Given the description of an element on the screen output the (x, y) to click on. 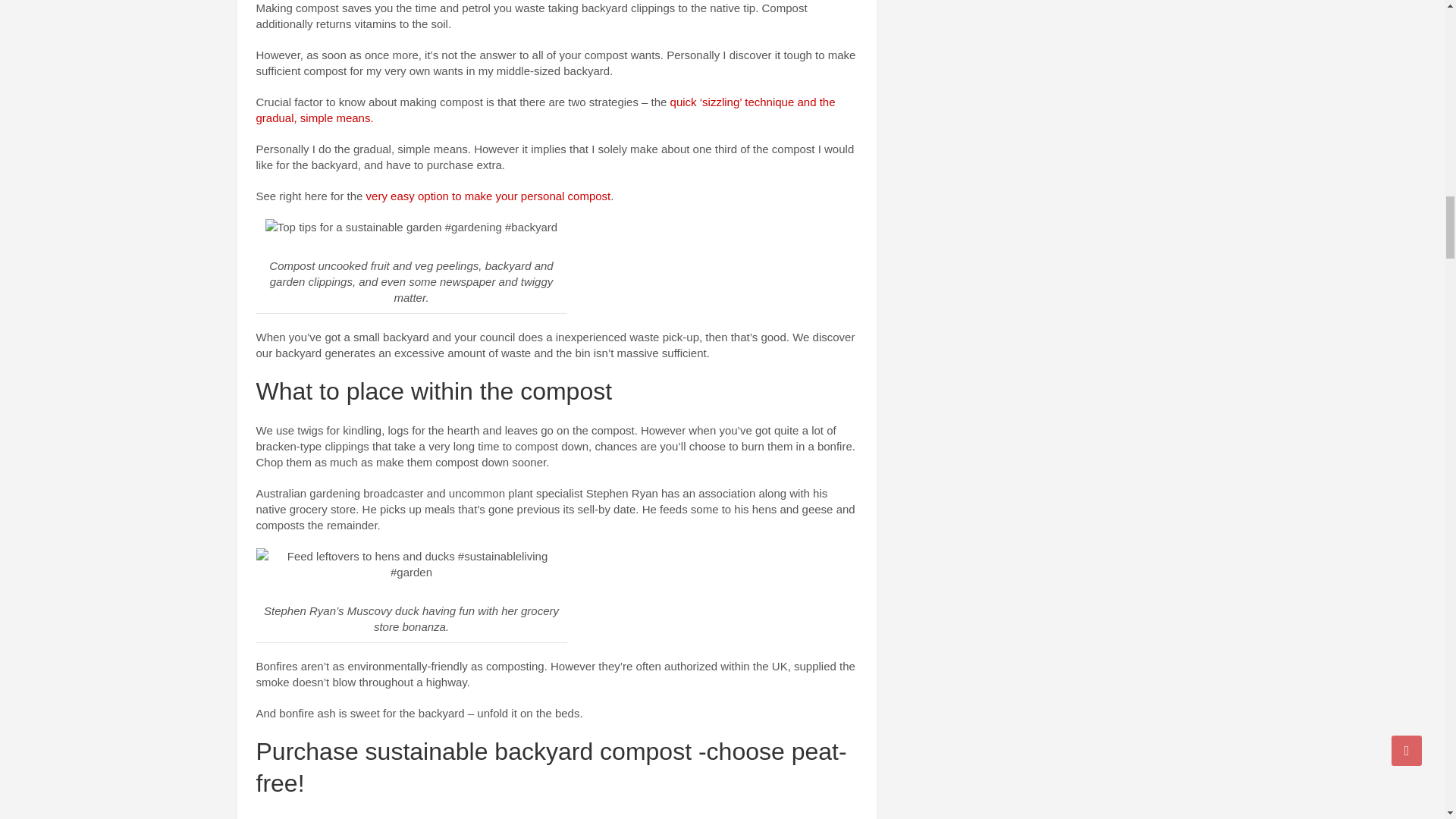
very easy option to make your personal compost (488, 195)
Make your own compost for a sustainble, money-saving garden (410, 227)
